Given the description of an element on the screen output the (x, y) to click on. 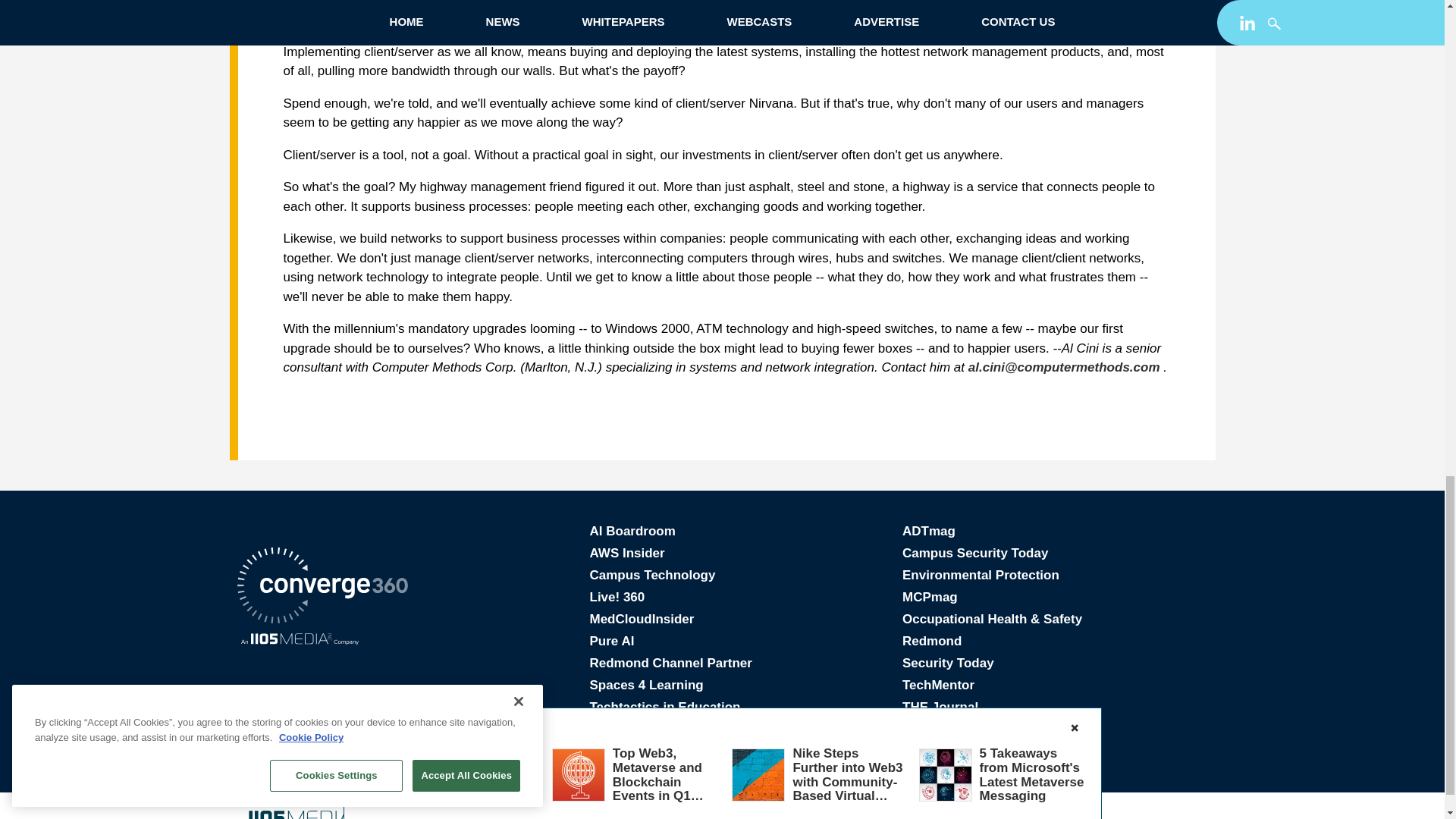
Spaces 4 Learning (646, 685)
Campus Technology (652, 575)
Campus Security Today (975, 553)
Redmond (931, 640)
Environmental Protection (980, 575)
AWS Insider (627, 553)
ADTmag (928, 531)
Redmond Channel Partner (670, 663)
MCPmag (930, 596)
Security Today (948, 663)
Pure AI (611, 640)
AI Boardroom (632, 531)
Live! 360 (617, 596)
MedCloudInsider (641, 618)
